Given the description of an element on the screen output the (x, y) to click on. 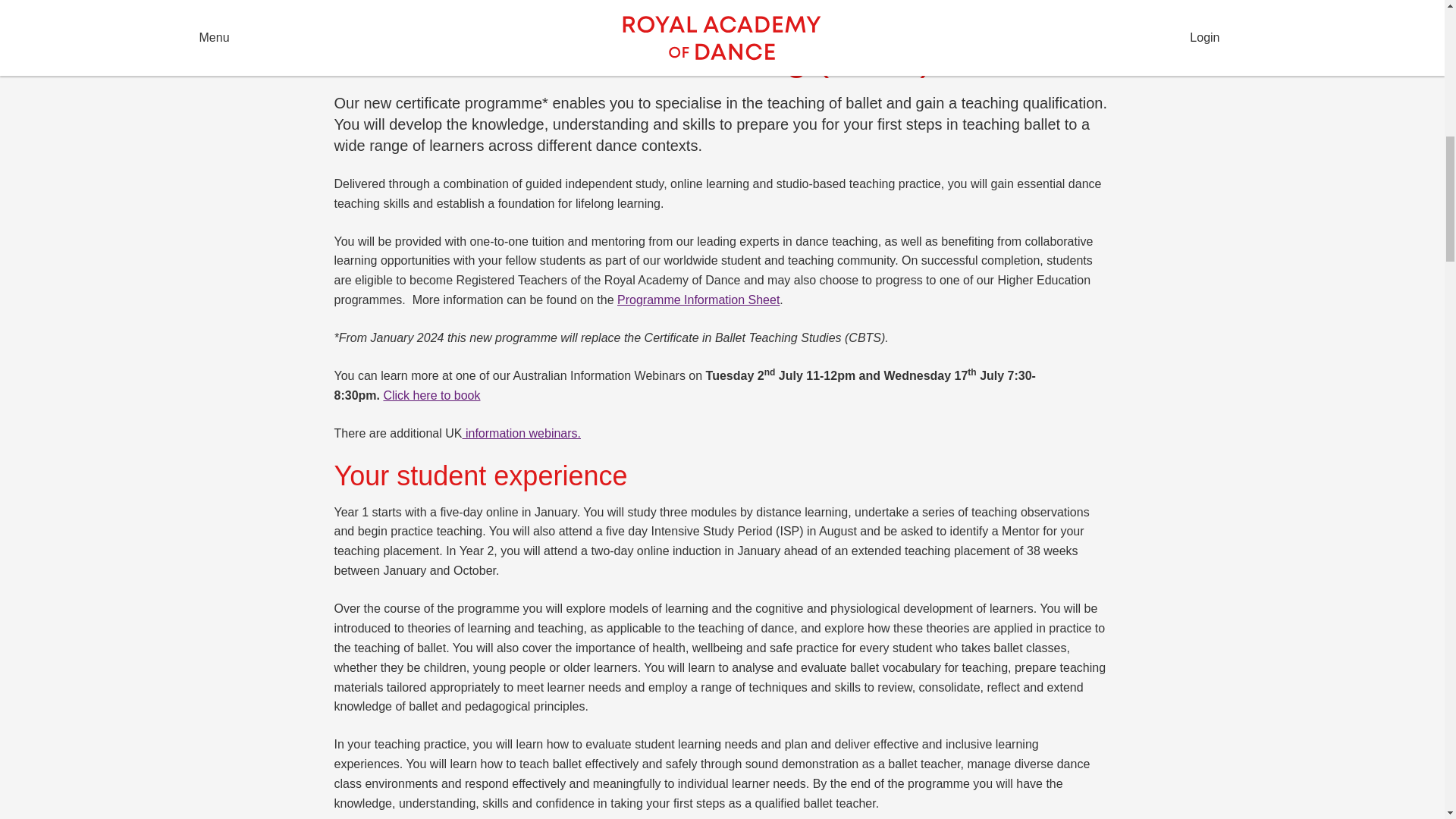
Teacher Training with the RAD (469, 10)
Programme Information Sheet (697, 299)
Click here to book (431, 395)
Faculty of Education (622, 10)
Home (354, 10)
information webinars. (520, 432)
